Given the description of an element on the screen output the (x, y) to click on. 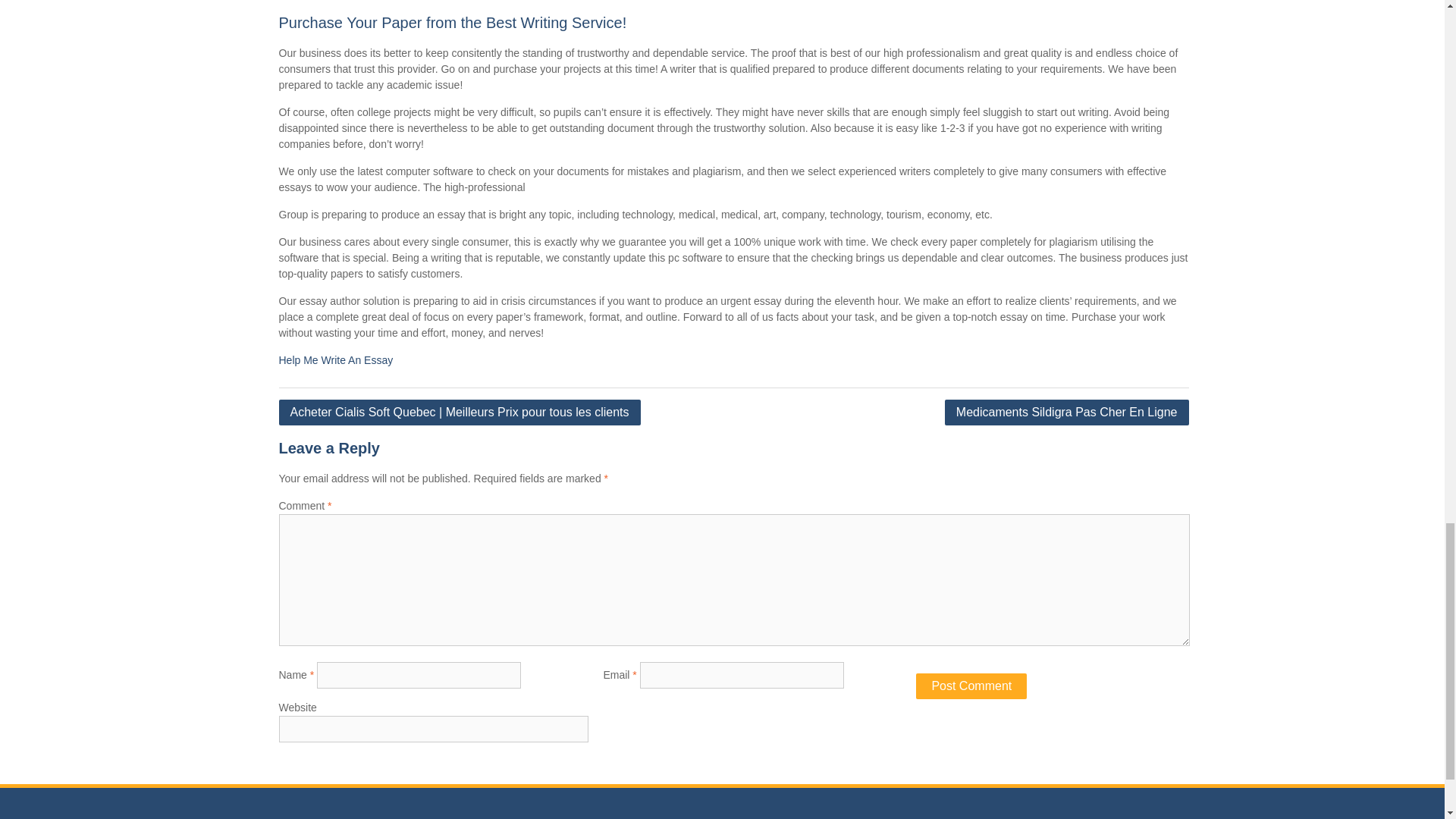
Post Comment (970, 686)
Medicaments Sildigra Pas Cher En Ligne (1066, 412)
Help Me Write An Essay (336, 359)
Post Comment (970, 686)
